Given the description of an element on the screen output the (x, y) to click on. 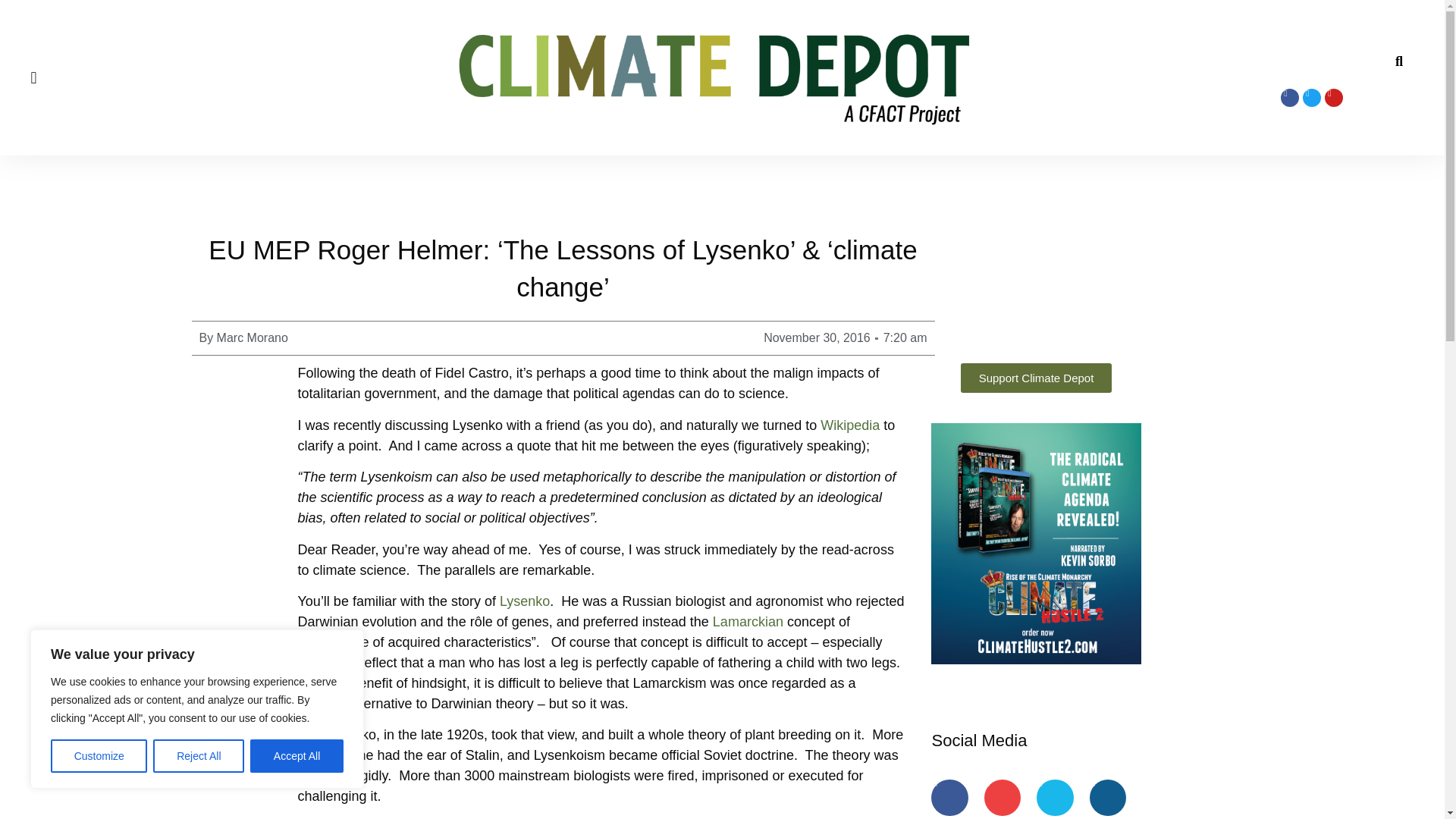
November 30, 2016 (816, 338)
Lysenko (524, 601)
Support Climate Depot (1036, 378)
Accept All (296, 756)
By Marc Morano (242, 338)
Lamarckian (750, 621)
Wikipedia (852, 425)
Reject All (198, 756)
Customize (98, 756)
